Given the description of an element on the screen output the (x, y) to click on. 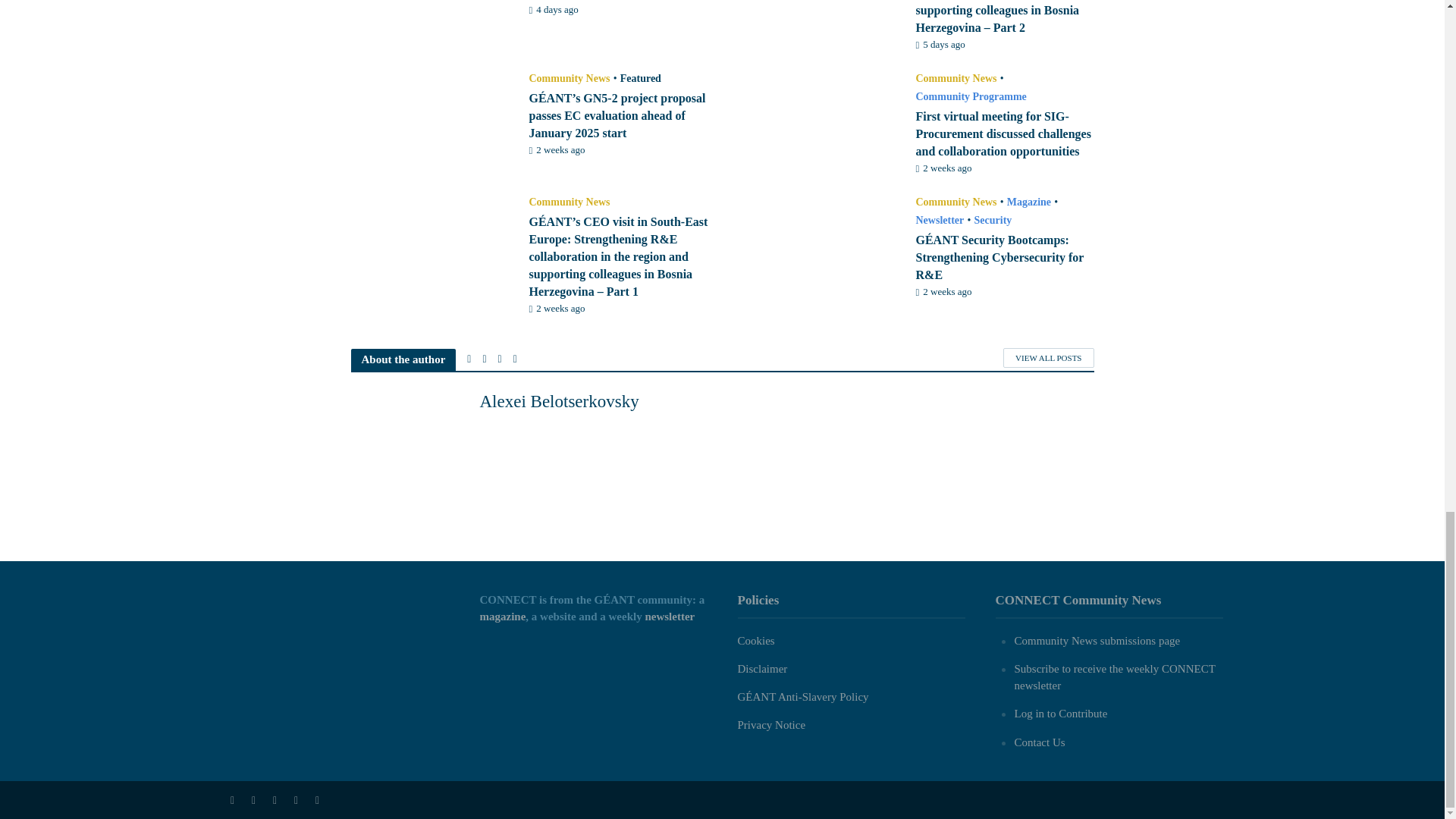
Cookies (755, 640)
Disclaimer (761, 668)
Privacy Notice (770, 725)
